Given the description of an element on the screen output the (x, y) to click on. 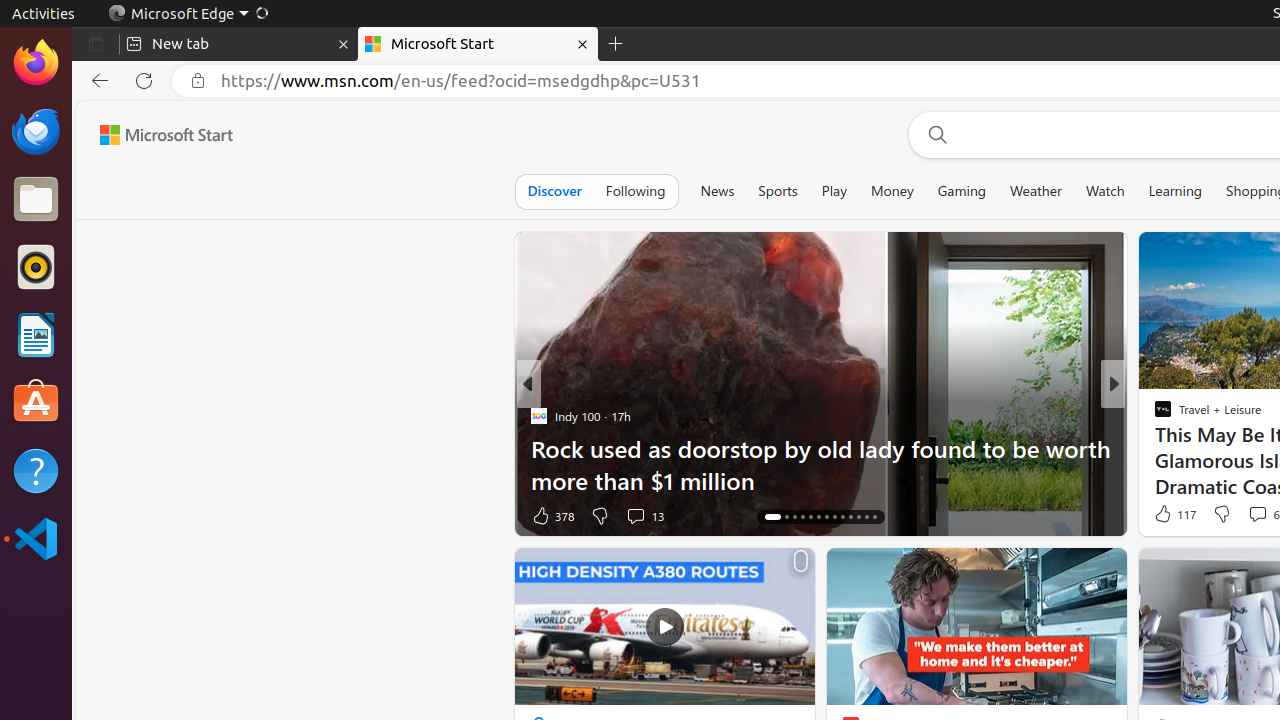
467 Like Element type: toggle-button (1168, 515)
View comments 27 Comment Element type: push-button (1251, 515)
LibreOffice Writer Element type: push-button (36, 334)
Money Element type: link (892, 191)
Gaming Element type: link (962, 191)
